Given the description of an element on the screen output the (x, y) to click on. 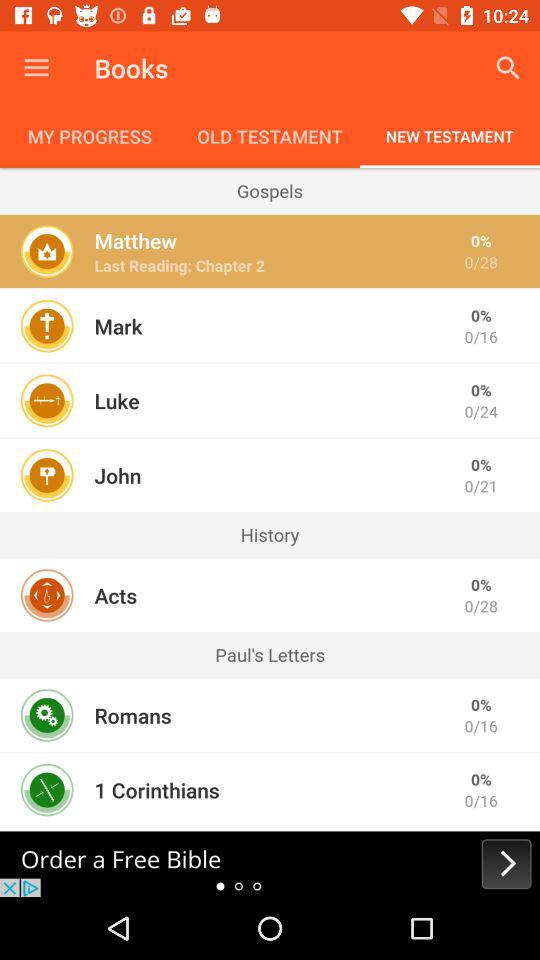
tap matthew item (135, 240)
